Given the description of an element on the screen output the (x, y) to click on. 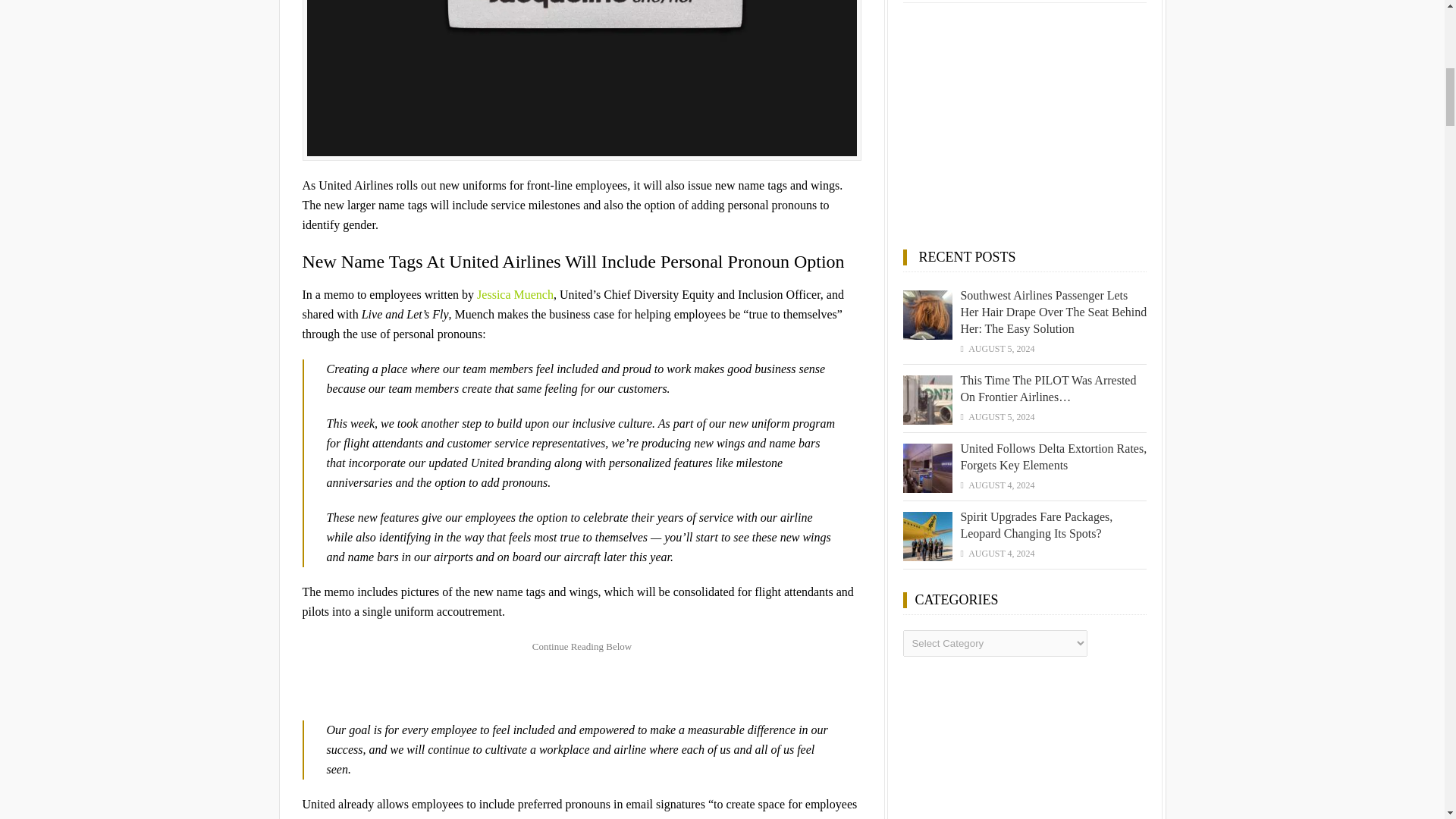
Jessica Muench (515, 294)
